Given the description of an element on the screen output the (x, y) to click on. 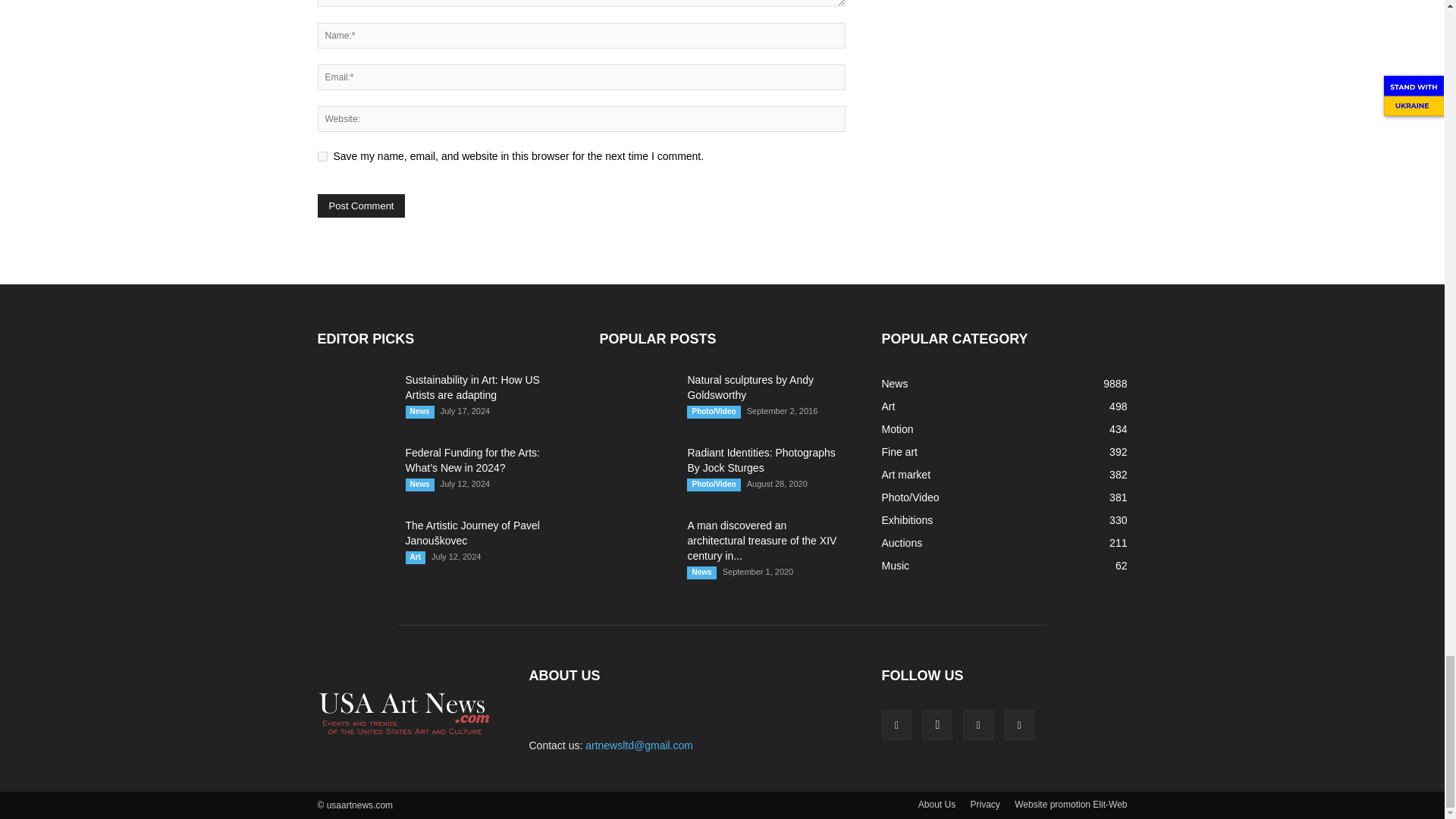
Post Comment (360, 205)
yes (321, 156)
